Given the description of an element on the screen output the (x, y) to click on. 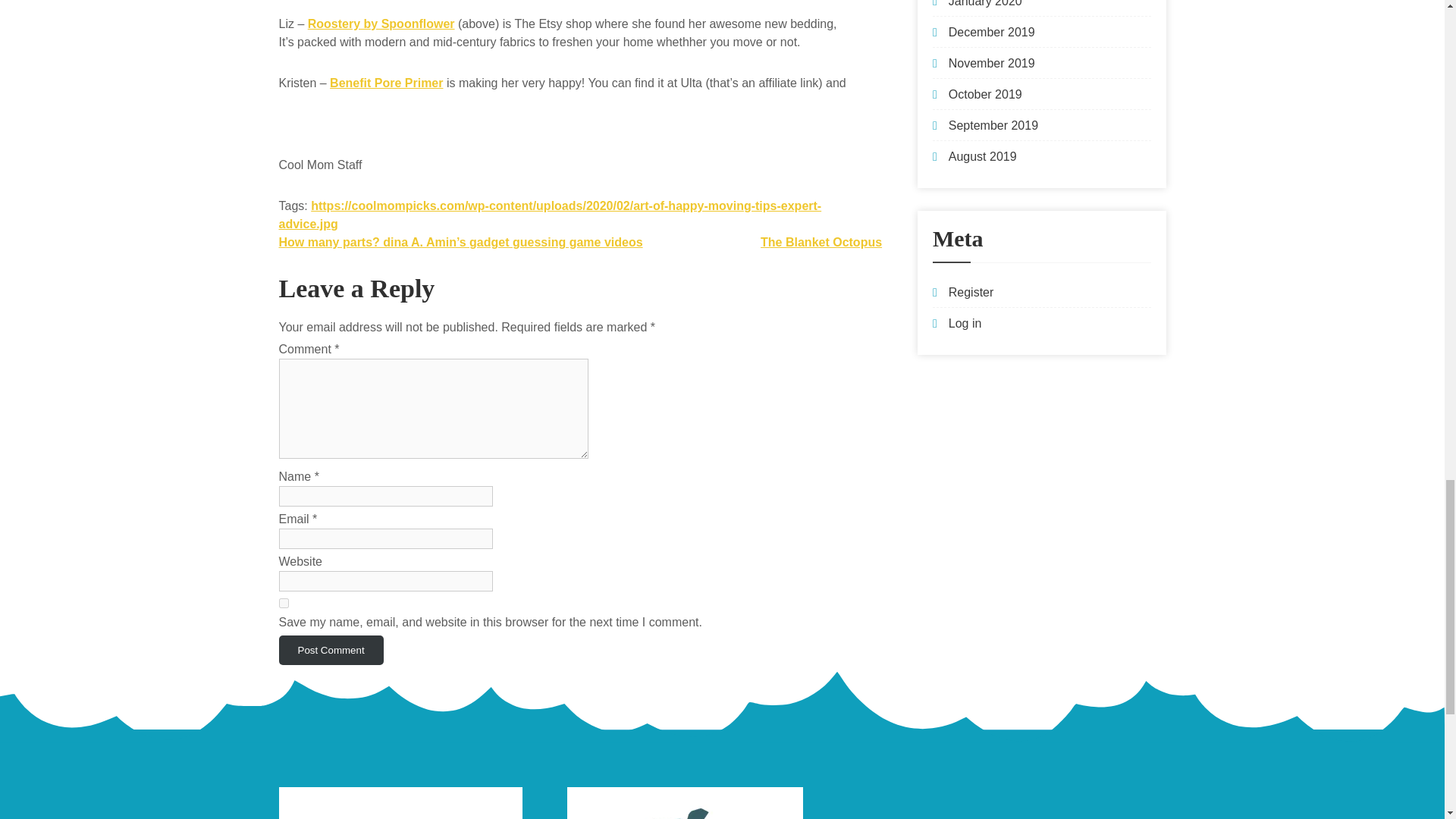
Post Comment (331, 650)
Roostery by Spoonflower (380, 23)
The Blanket Octopus (821, 241)
yes (283, 603)
Benefit Pore Primer (386, 82)
Post Comment (331, 650)
